Given the description of an element on the screen output the (x, y) to click on. 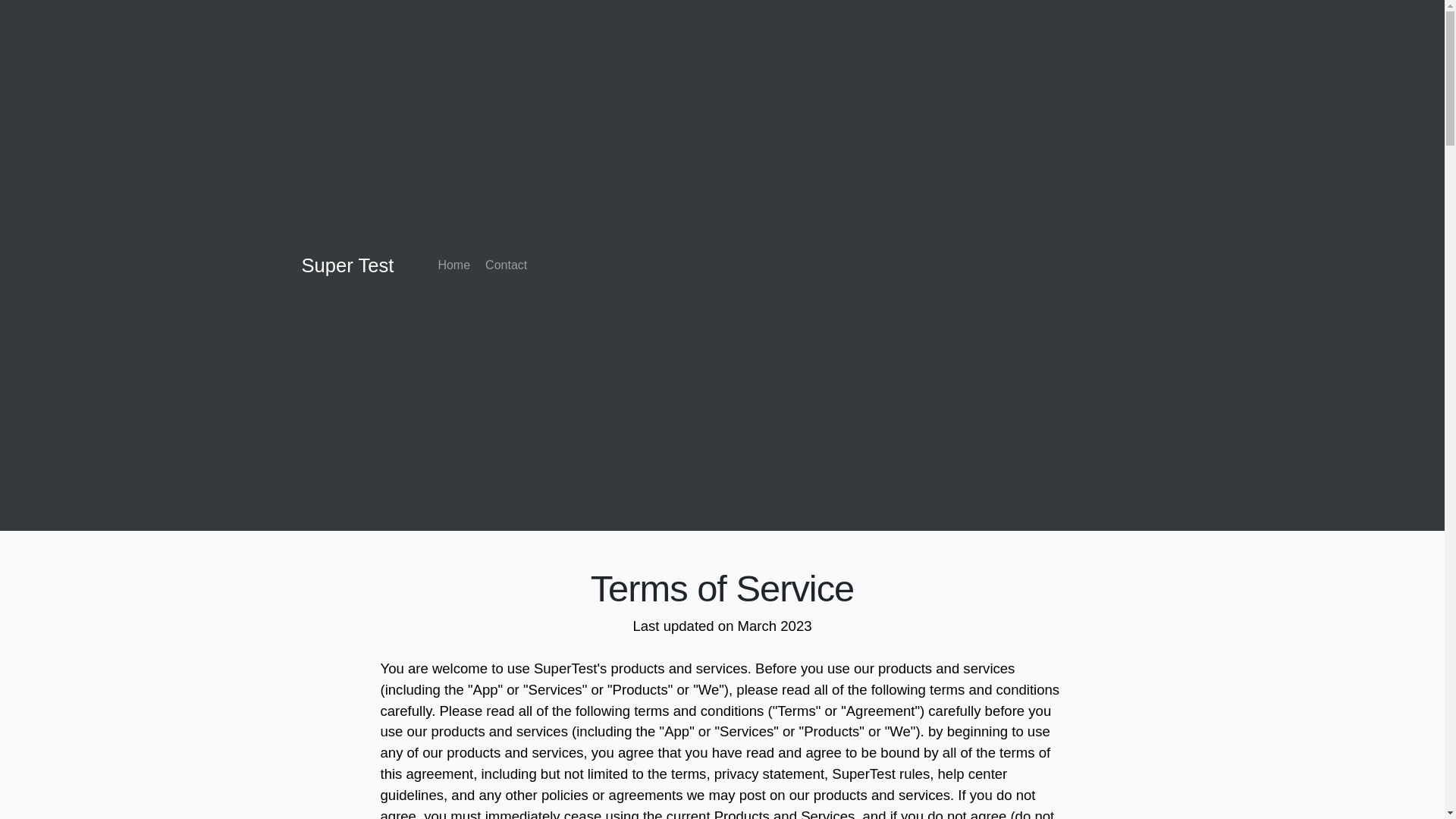
Super Test (347, 265)
Contact (505, 264)
Home (453, 264)
